Given the description of an element on the screen output the (x, y) to click on. 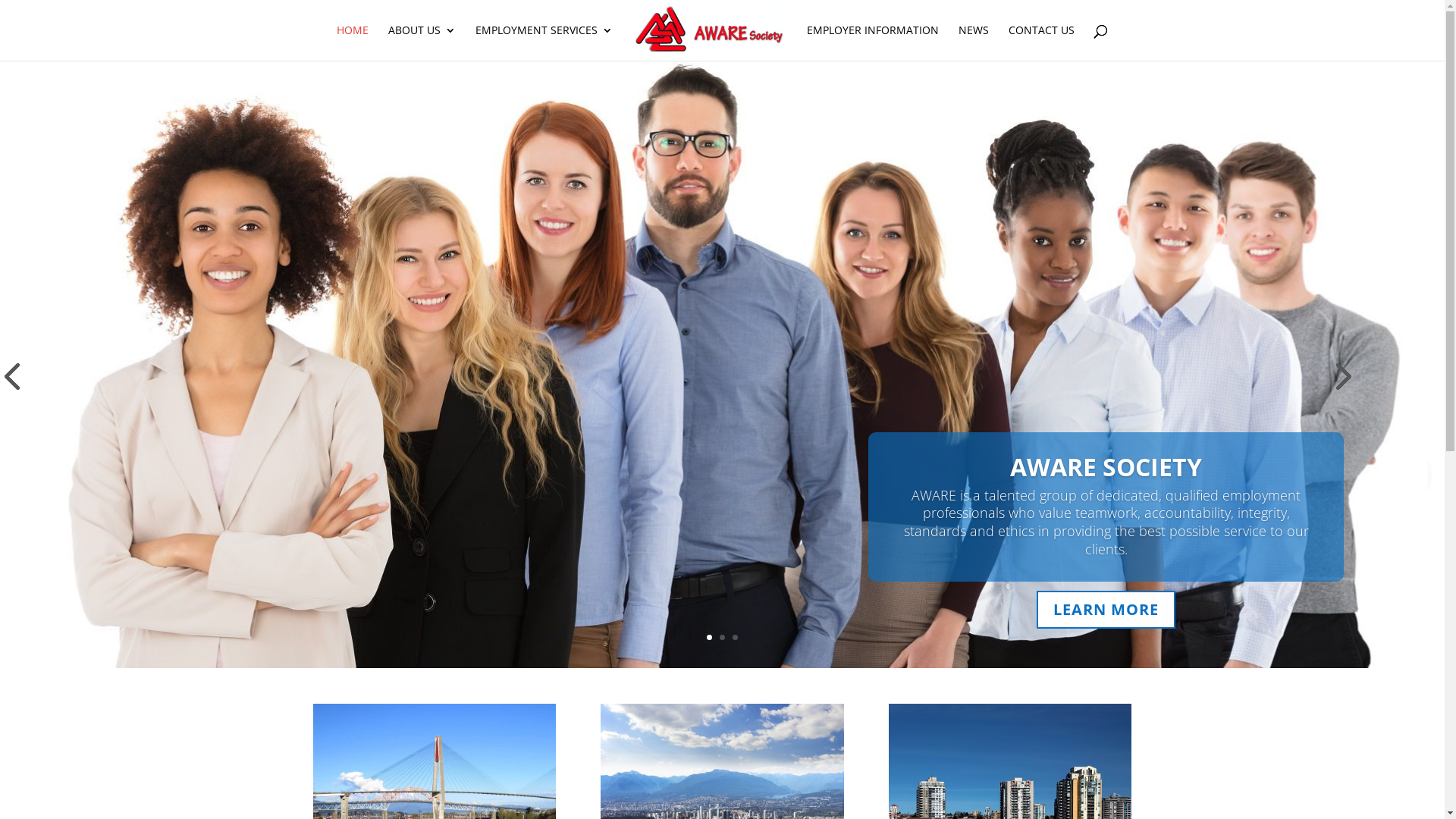
HOME Element type: text (352, 42)
ABOUT US Element type: text (421, 42)
LEARN MORE Element type: text (1105, 609)
2 Element type: text (721, 637)
3 Element type: text (734, 637)
EMPLOYMENT SERVICES Element type: text (543, 42)
NEWS Element type: text (973, 42)
EMPLOYER INFORMATION Element type: text (872, 42)
1 Element type: text (709, 637)
CONTACT US Element type: text (1041, 42)
AWARE SOCIETY Element type: text (1105, 466)
